Given the description of an element on the screen output the (x, y) to click on. 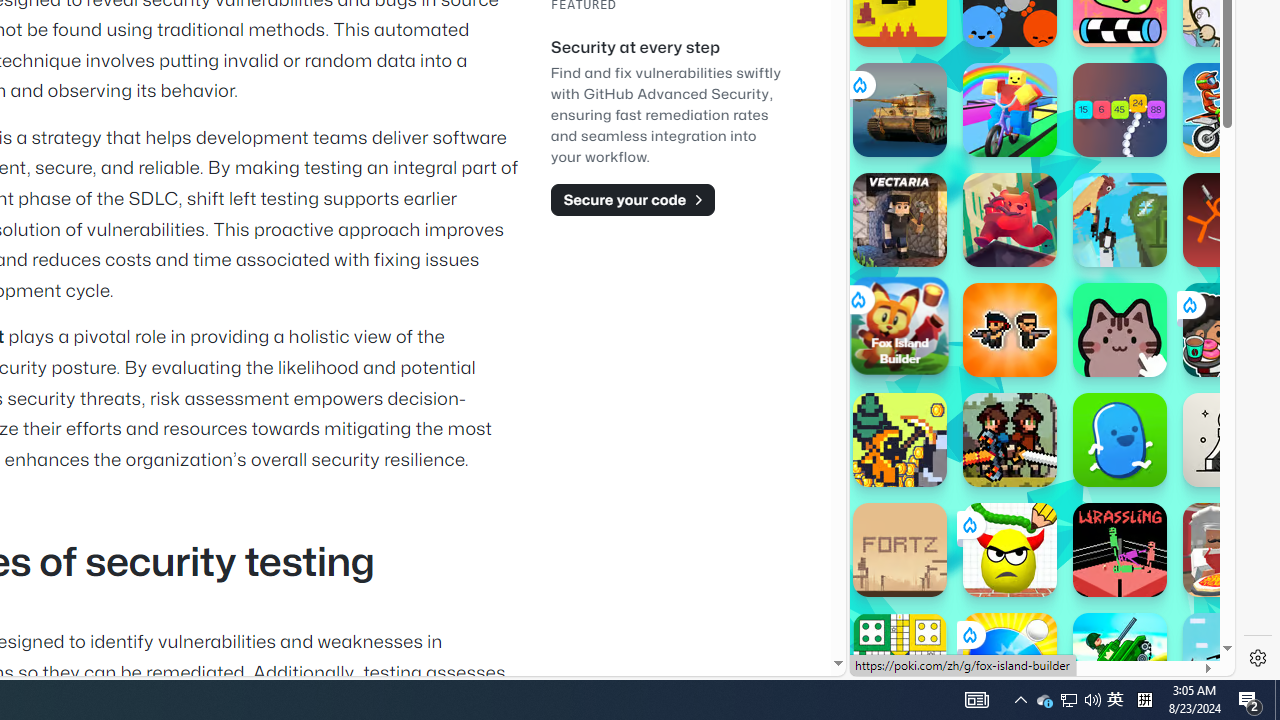
Vectaria.io Vectaria.io (899, 219)
Moto X3M (1229, 109)
Combat Reloaded Combat Reloaded poki.com (1092, 245)
Stickman Fight: Ragdoll (1229, 219)
Vortelli's Pizza (1229, 549)
Ping Pong Go! (1009, 659)
Island Odyssey: Return of the Sea (899, 439)
Apple Knight: Fight (1009, 439)
Zombie Rush Zombie Rush (1009, 329)
Hypersnake (1119, 109)
Fox Island Builder (899, 325)
Vectaria.io (899, 219)
Apple Knight: Fight Apple Knight: Fight (1009, 439)
Rainbow Obby Rainbow Obby (1009, 109)
